Given the description of an element on the screen output the (x, y) to click on. 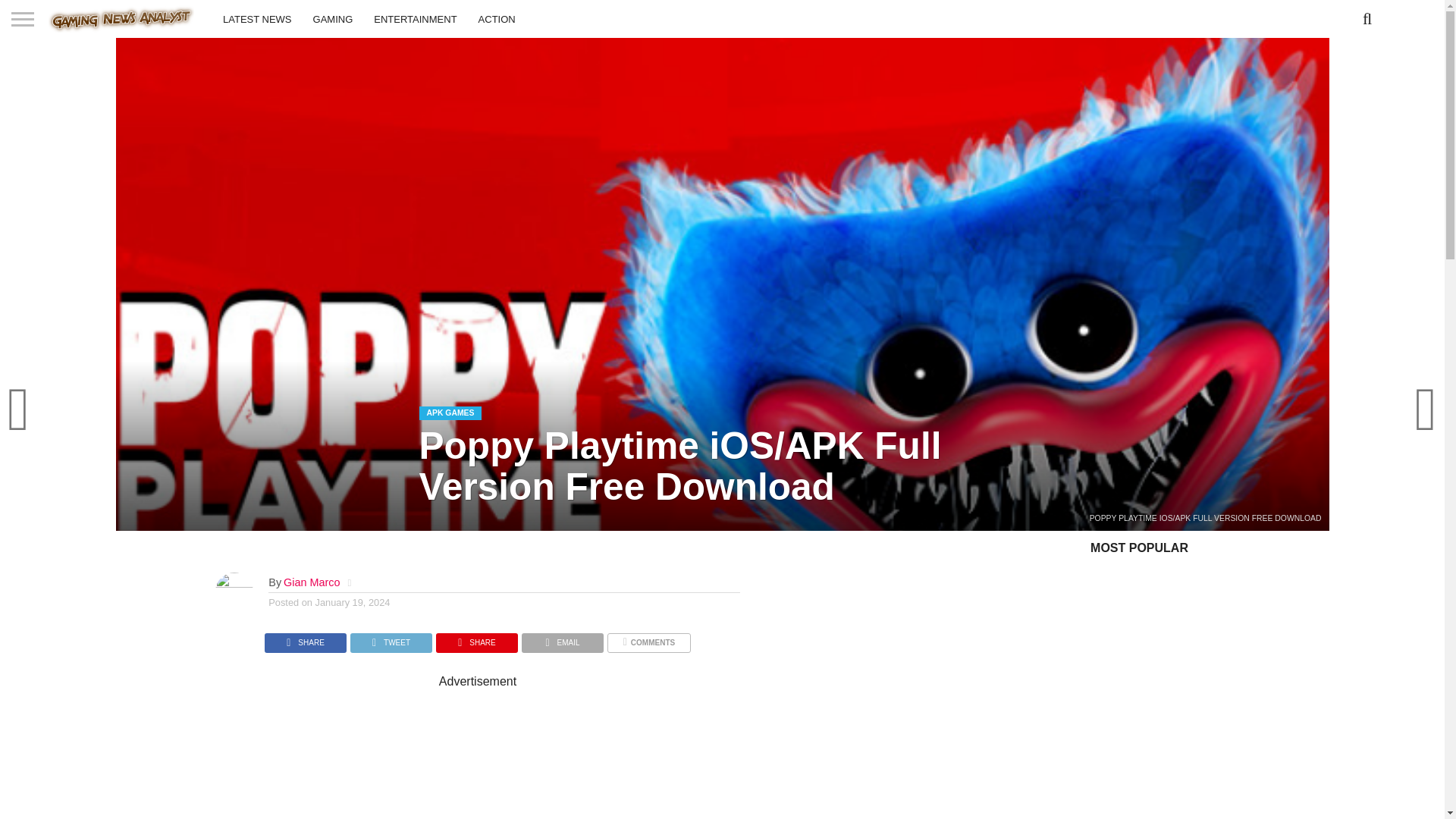
Posts by Gian Marco (311, 582)
Tweet This Post (390, 638)
ACTION (496, 18)
SHARE (305, 638)
Share on Facebook (305, 638)
TWEET (390, 638)
ENTERTAINMENT (414, 18)
SHARE (476, 638)
Gian Marco (311, 582)
Advertisement (602, 753)
COMMENTS (648, 638)
GAMING (333, 18)
Pin This Post (476, 638)
EMAIL (562, 638)
LATEST NEWS (257, 18)
